Given the description of an element on the screen output the (x, y) to click on. 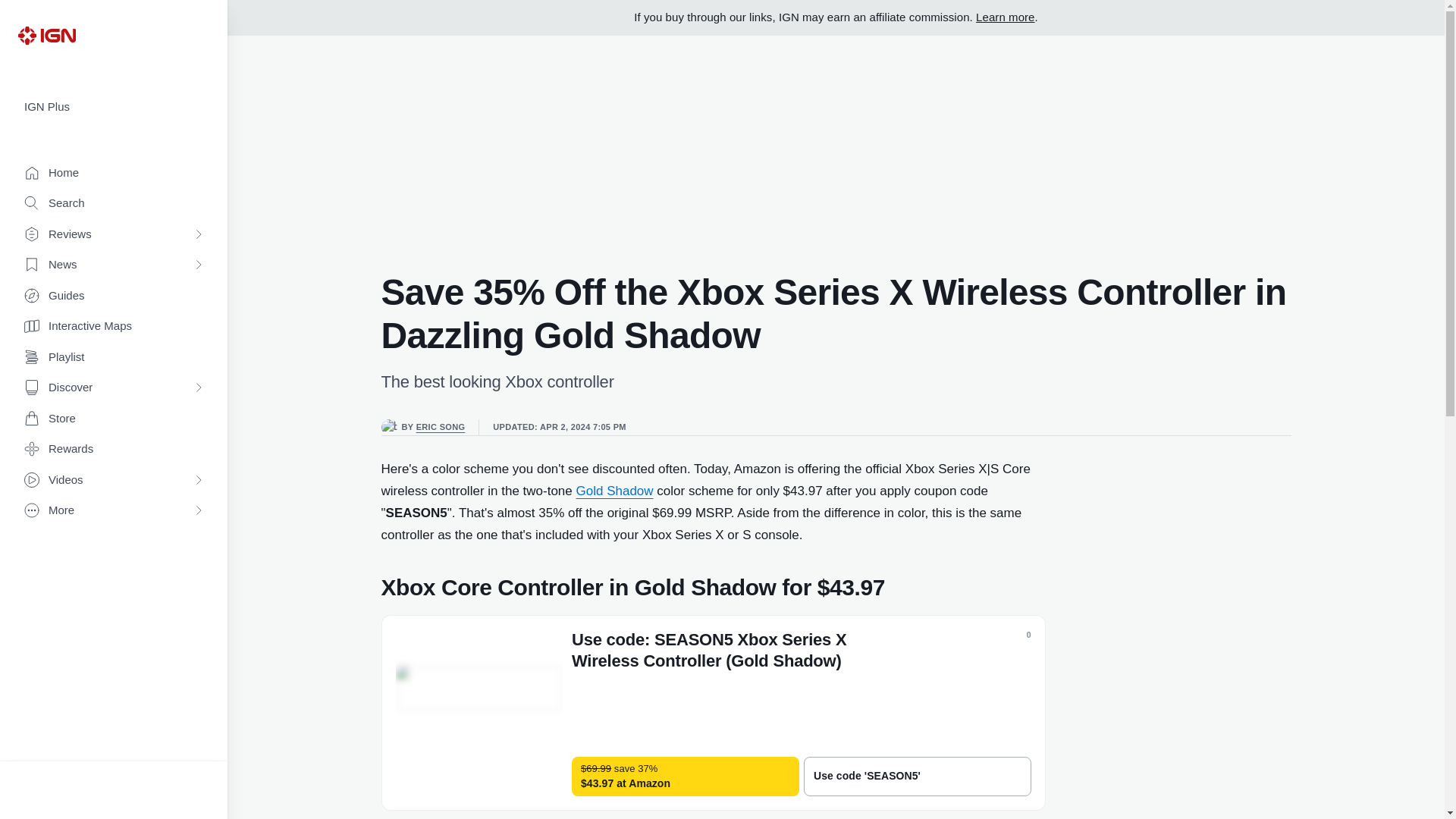
More (113, 510)
Guides (113, 295)
Home (113, 172)
Rewards (113, 449)
Store (113, 418)
IGN Logo (46, 34)
Reviews (113, 234)
Home (113, 172)
Playlist (113, 357)
Guides (113, 295)
